Given the description of an element on the screen output the (x, y) to click on. 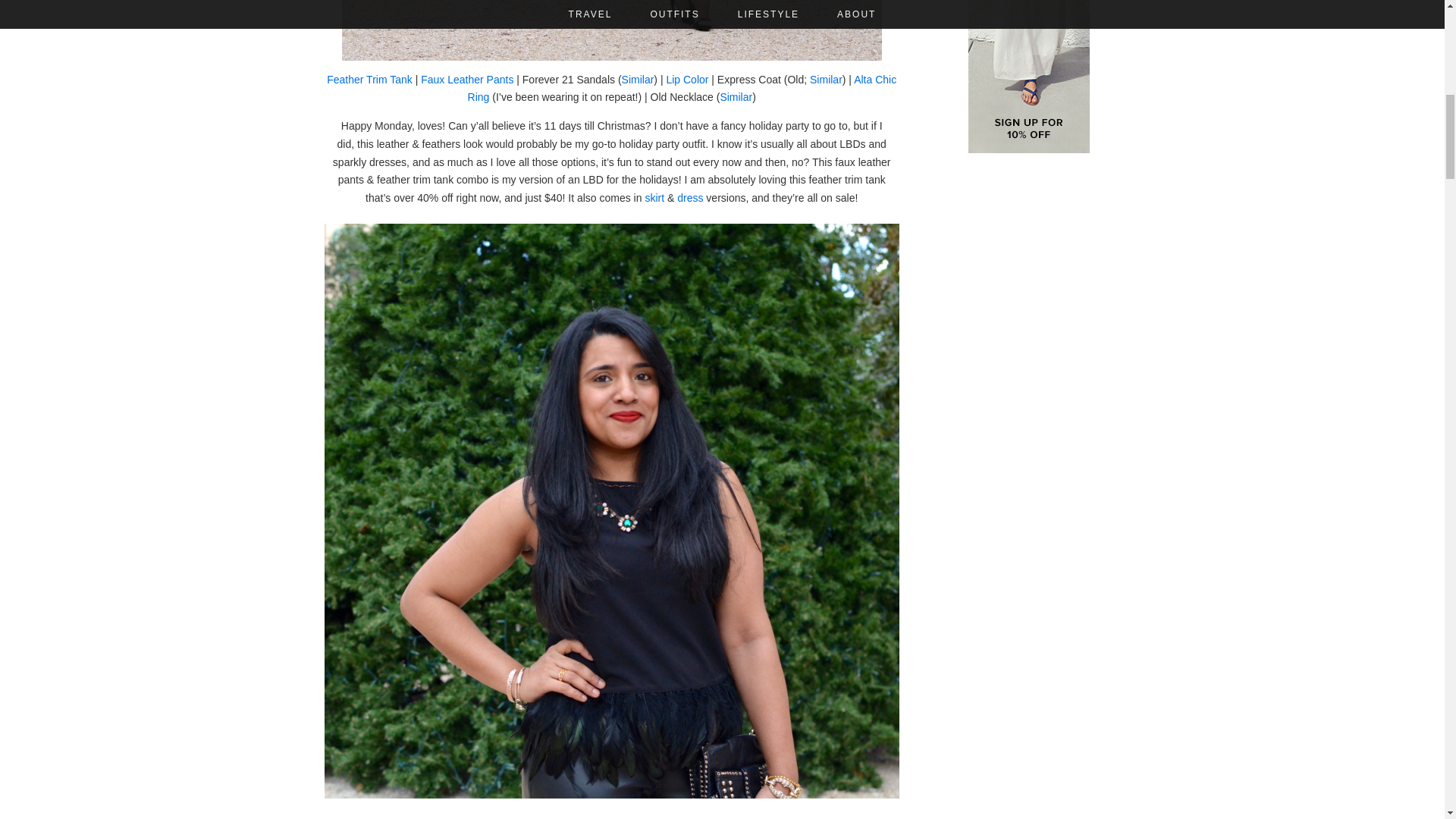
Feather Trim Tank (369, 78)
Faux Leather Pants (466, 78)
Lip Color (686, 78)
Alta Chic Ring (681, 87)
dress (690, 197)
skirt (654, 197)
Similar (735, 96)
Similar (637, 78)
Similar (826, 78)
